Given the description of an element on the screen output the (x, y) to click on. 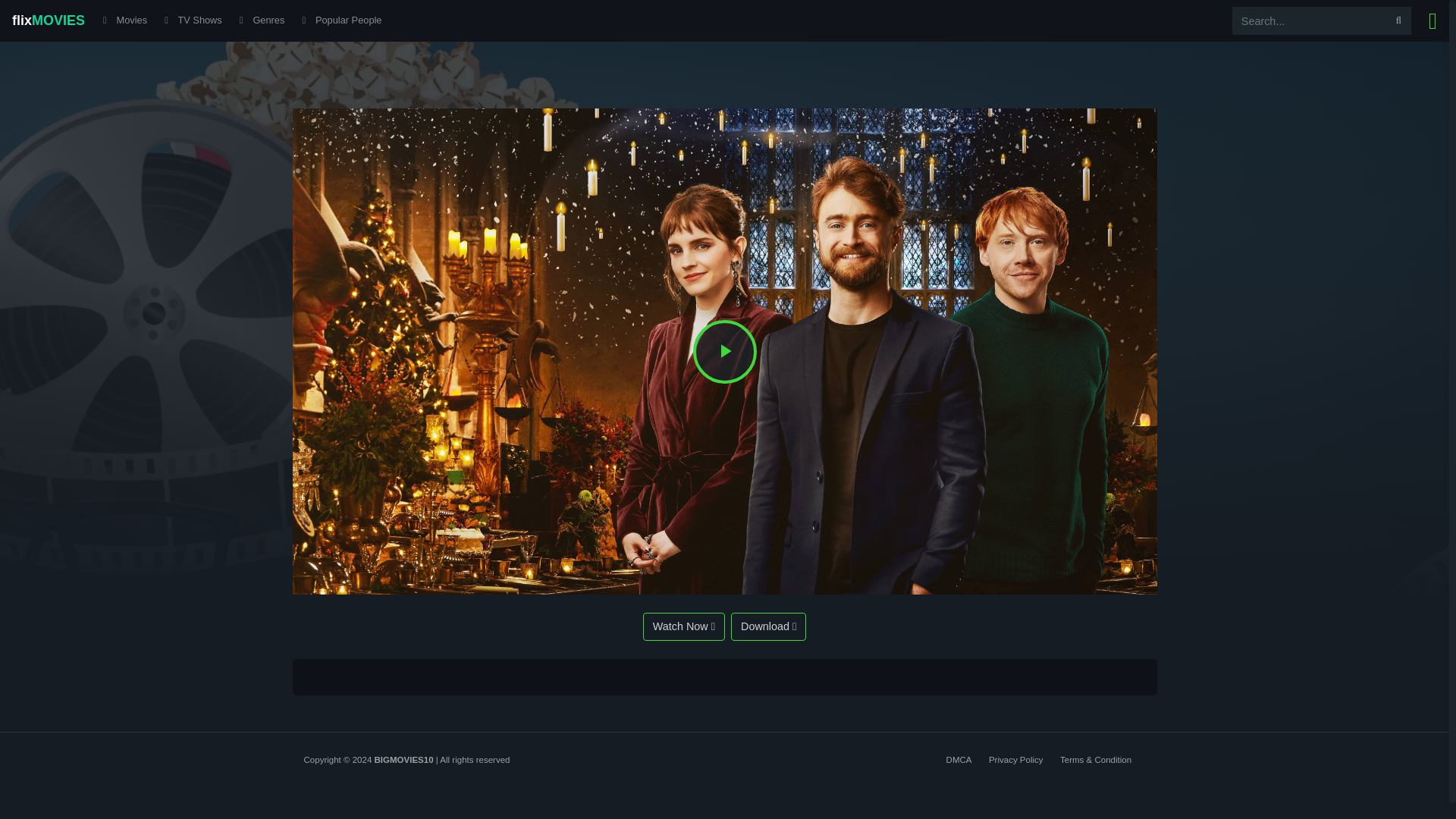
Play Video (725, 352)
Watch Now (684, 626)
Download (768, 626)
Play Video (725, 352)
